Given the description of an element on the screen output the (x, y) to click on. 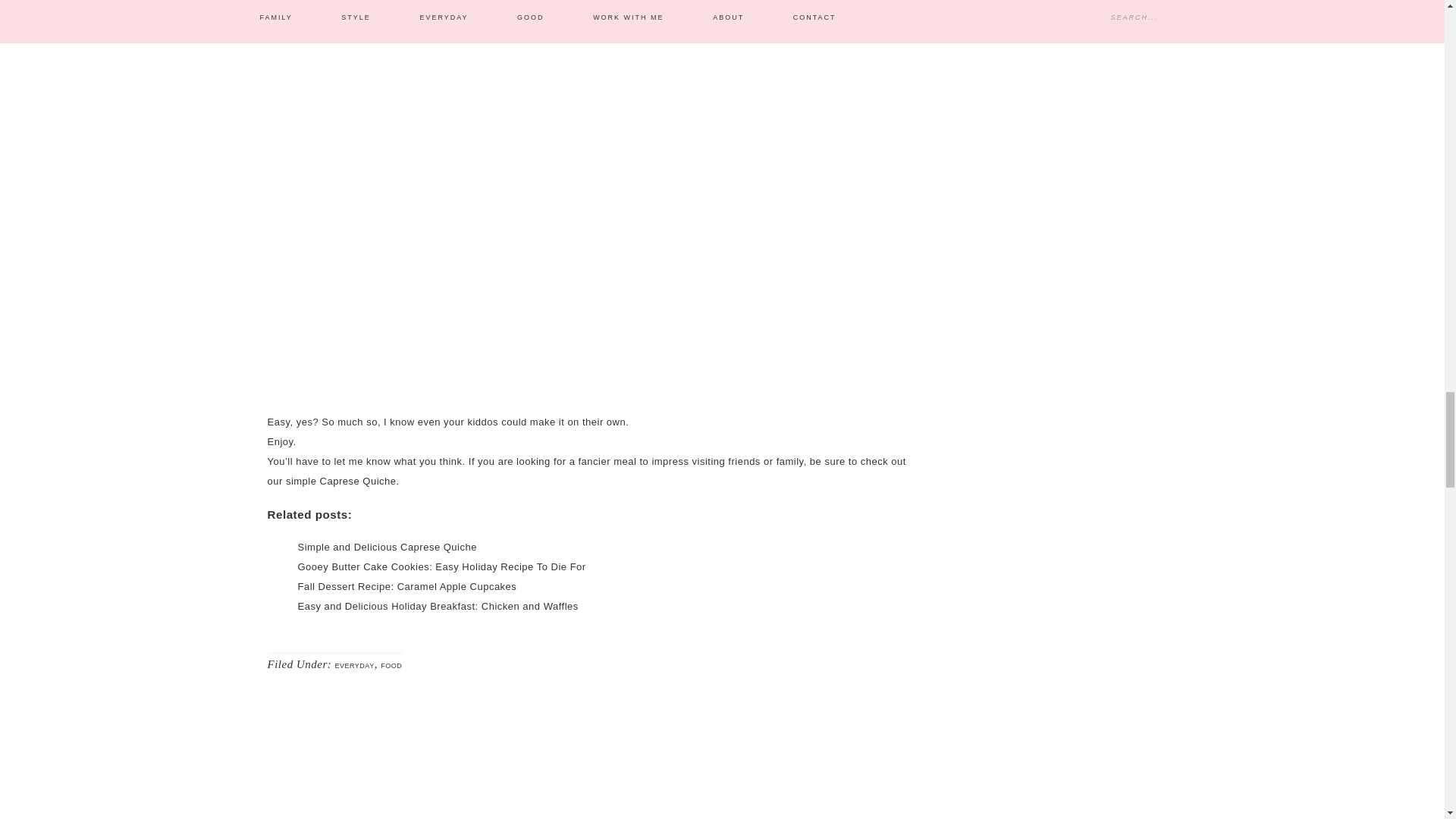
Simple and Delicious Caprese Quiche (386, 546)
Easy and Delicious Holiday Breakfast: Chicken and Waffles (437, 605)
FOOD (390, 665)
Fall Dessert Recipe: Caramel Apple Cupcakes (406, 586)
Gooey Butter Cake Cookies: Easy Holiday Recipe To Die For (441, 566)
Fall Dessert Recipe: Caramel Apple Cupcakes (406, 586)
Gooey Butter Cake Cookies: Easy Holiday Recipe To Die For (441, 566)
Caprese Quiche (358, 480)
EVERYDAY (354, 665)
Easy and Delicious Holiday Breakfast: Chicken and Waffles (437, 605)
